Given the description of an element on the screen output the (x, y) to click on. 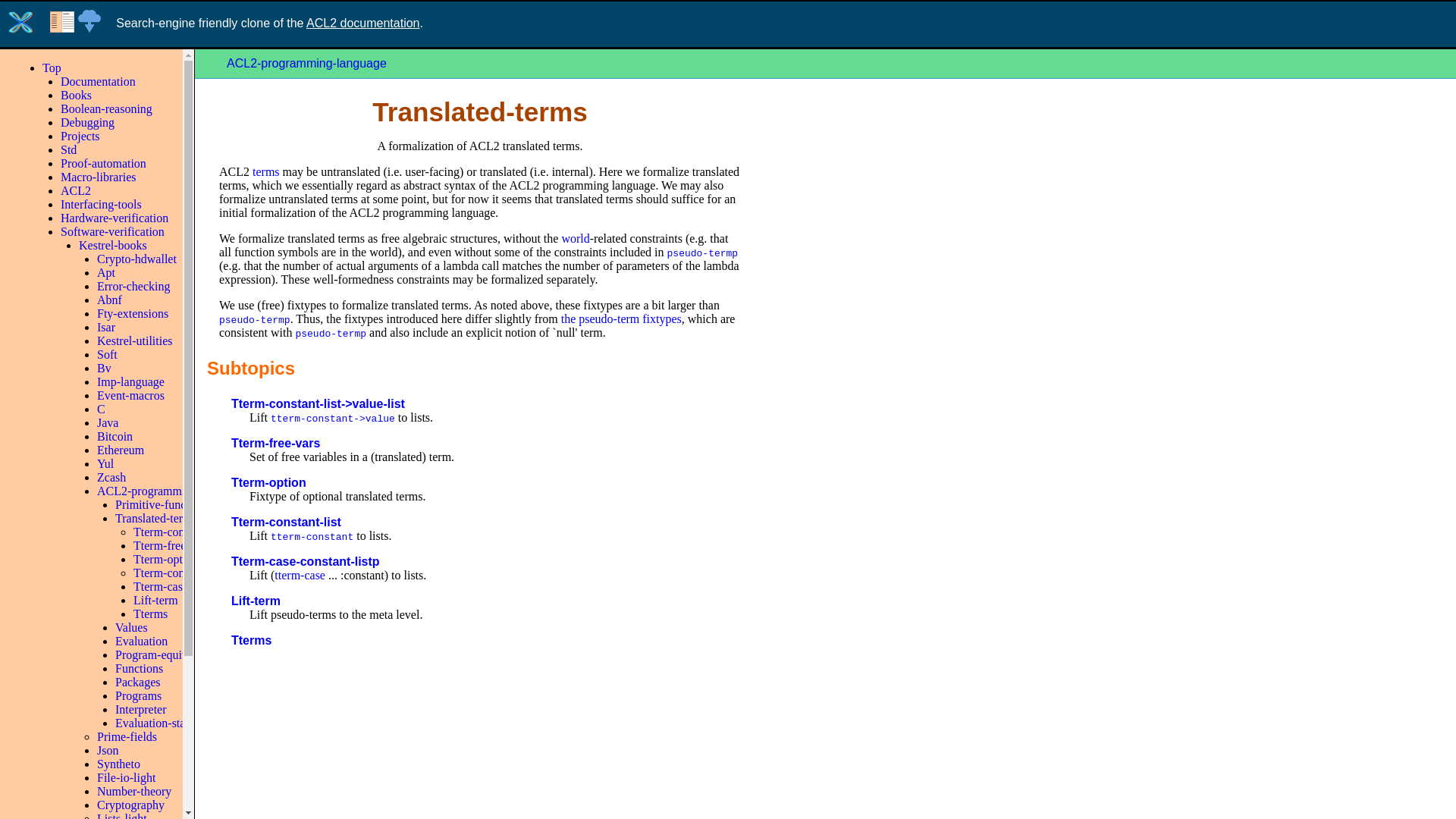
ACL2 documentation (362, 22)
